Given the description of an element on the screen output the (x, y) to click on. 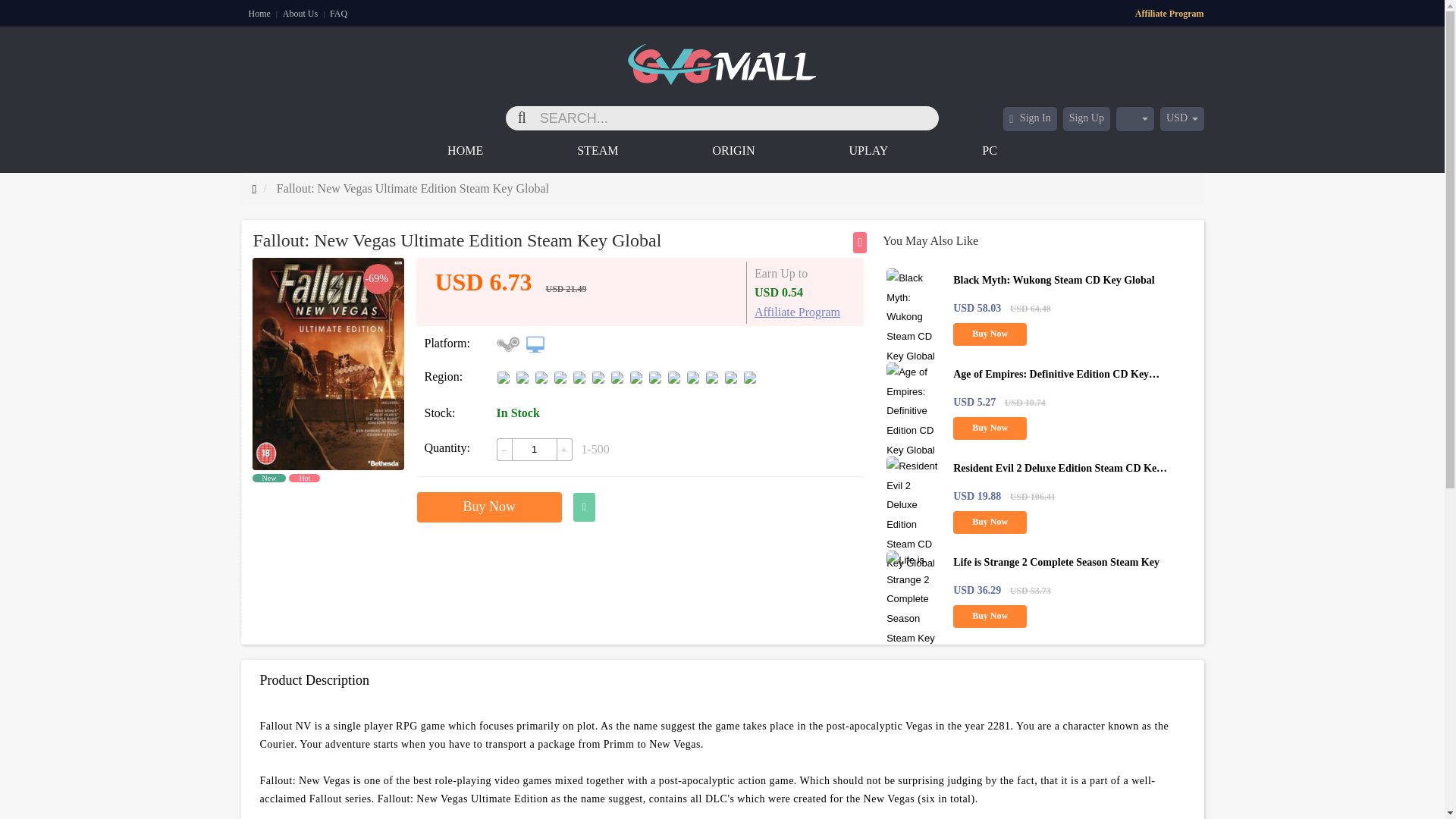
Resident Evil 2 Deluxe Edition Steam CD Key Global (1060, 477)
Affiliate Program (797, 311)
gvgmalls (722, 55)
HOME (464, 153)
Age of Empires: Definitive Edition CD Key Global (1055, 383)
FAQ (338, 13)
Home (260, 13)
Life is Strange 2 Complete Season Steam Key (1055, 562)
Sign In (1030, 119)
Affiliate Program (1169, 11)
PC (944, 153)
STEAM (551, 153)
Black Myth: Wukong Steam CD Key Global (1053, 279)
About Us (301, 13)
ORIGIN (687, 153)
